Given the description of an element on the screen output the (x, y) to click on. 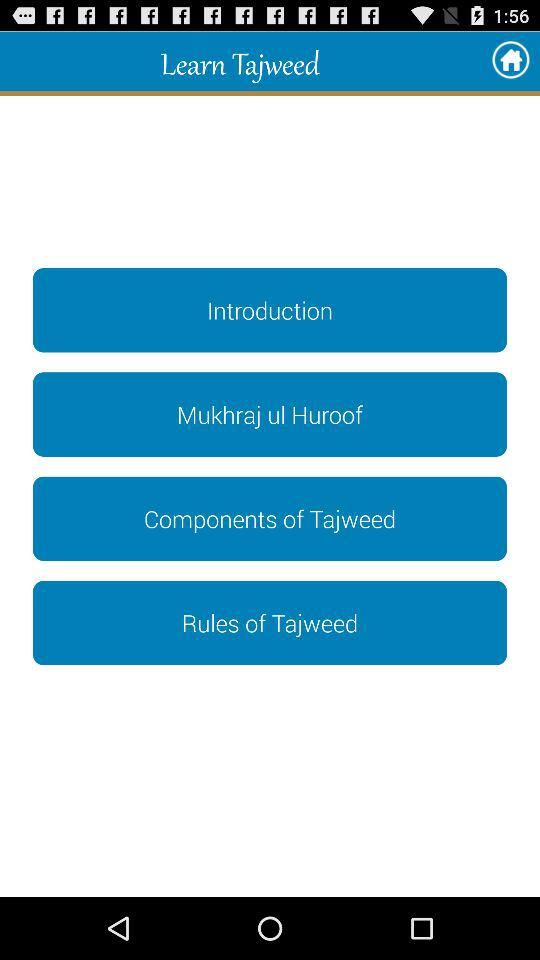
click item next to learn tajweed icon (510, 60)
